Given the description of an element on the screen output the (x, y) to click on. 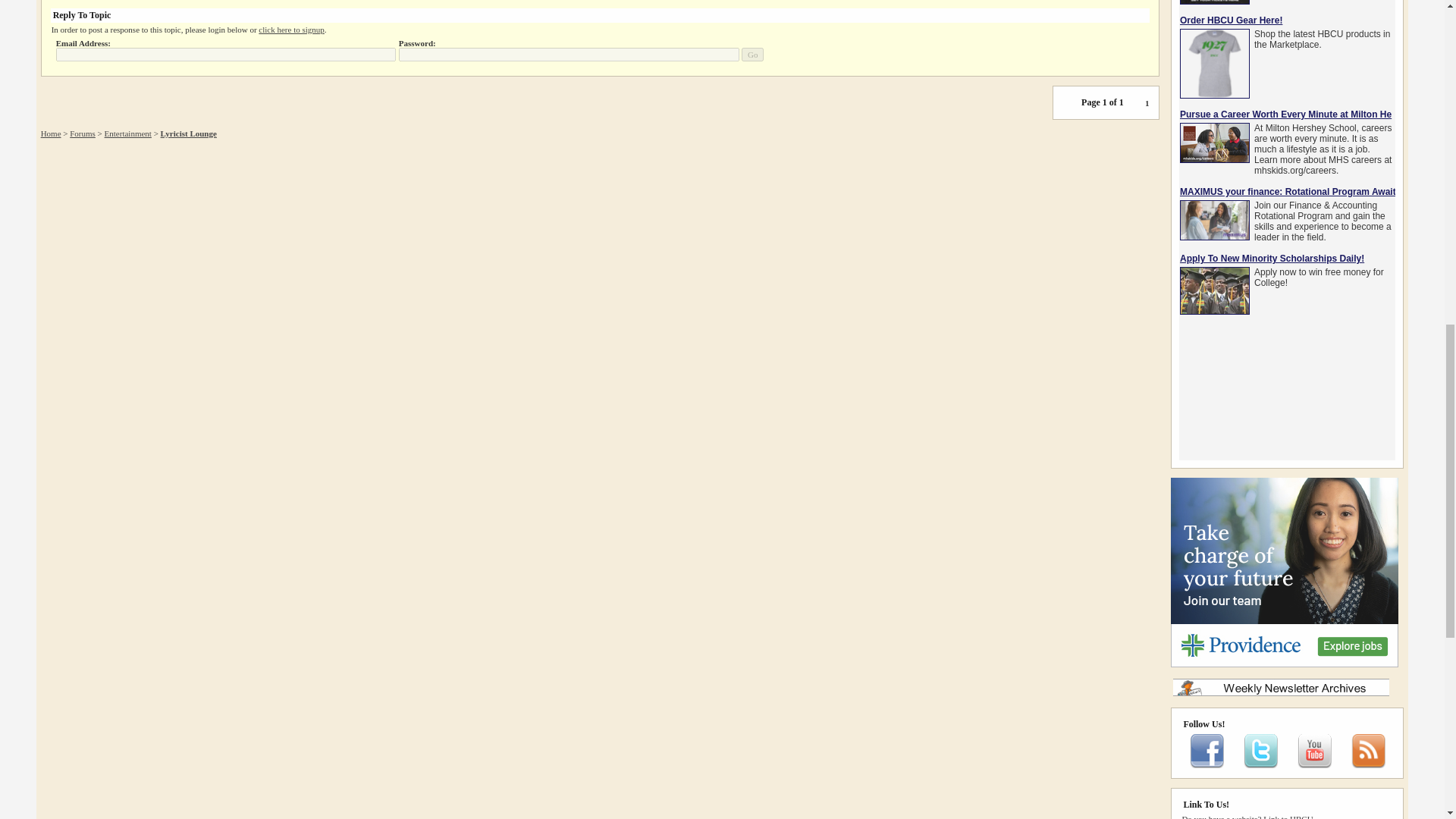
Follow us on Twitter! (1260, 764)
Follow us via RSS! (1368, 764)
Follow us on Facebook! (1206, 764)
Go (751, 54)
Follow us on YouTube! (1314, 764)
